Given the description of an element on the screen output the (x, y) to click on. 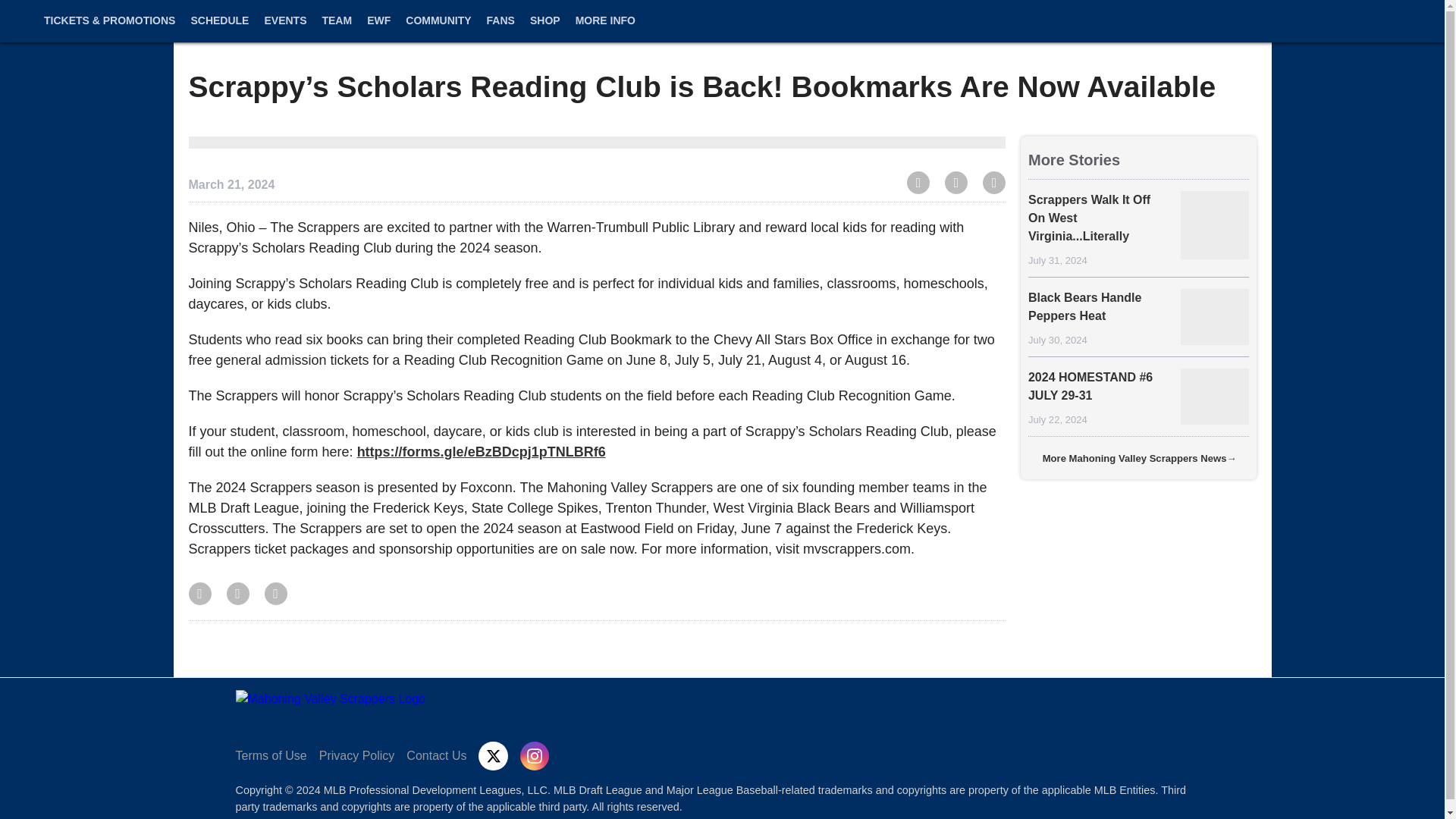
SCHEDULE (219, 28)
EVENTS (285, 28)
MORE INFO (605, 28)
COMMUNITY (438, 28)
